Given the description of an element on the screen output the (x, y) to click on. 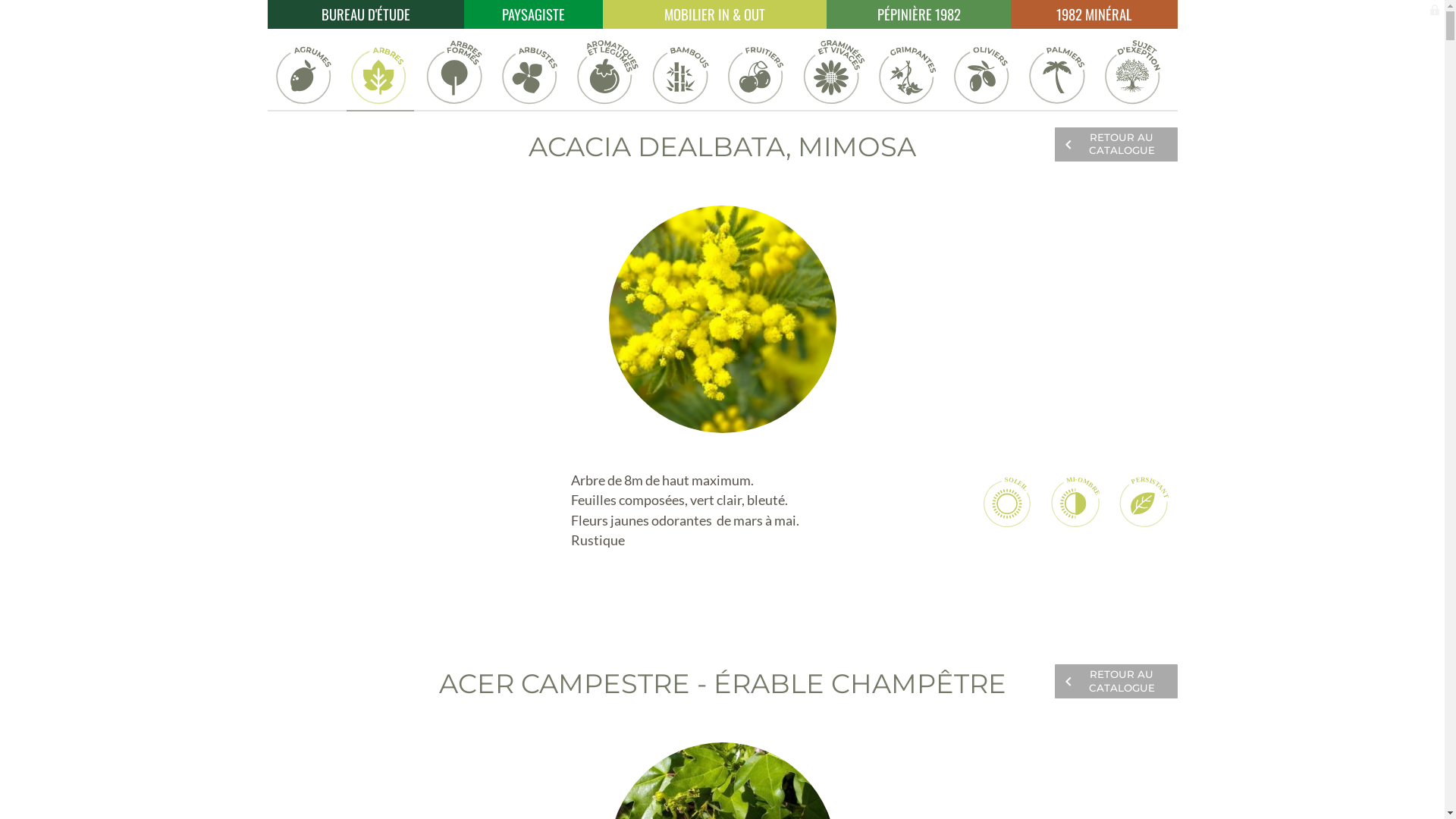
Bambous Element type: hover (681, 73)
Grimpantes Element type: hover (907, 73)
RETOUR AU
CATALOGUE Element type: text (1115, 144)
MOBILIER IN & OUT Element type: text (713, 14)
PAYSAGISTE Element type: text (533, 14)
Oliviers Element type: hover (982, 73)
Fruitiers Element type: hover (756, 73)
Arbres Element type: hover (380, 73)
RETOUR AU
CATALOGUE Element type: text (1115, 681)
Arbustes Element type: hover (530, 73)
Palmiers, cactus Element type: hover (1058, 73)
Agrumes Element type: hover (304, 73)
